Given the description of an element on the screen output the (x, y) to click on. 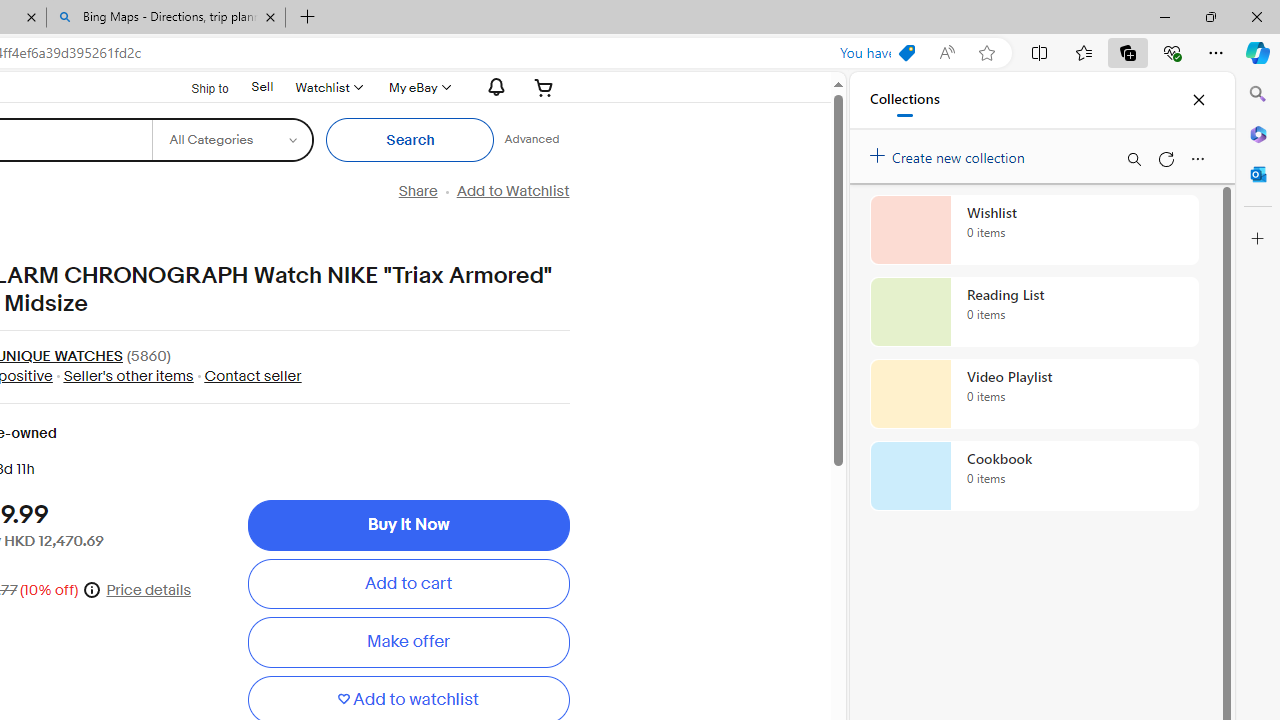
You have the best price! (906, 53)
My eBayExpand My eBay (418, 87)
Contact seller (252, 375)
  Seller's other items (123, 375)
Ship to (197, 88)
Cookbook collection, 0 items (1034, 475)
Add to cart (408, 583)
Reading List collection, 0 items (1034, 312)
Make offer (408, 642)
